Given the description of an element on the screen output the (x, y) to click on. 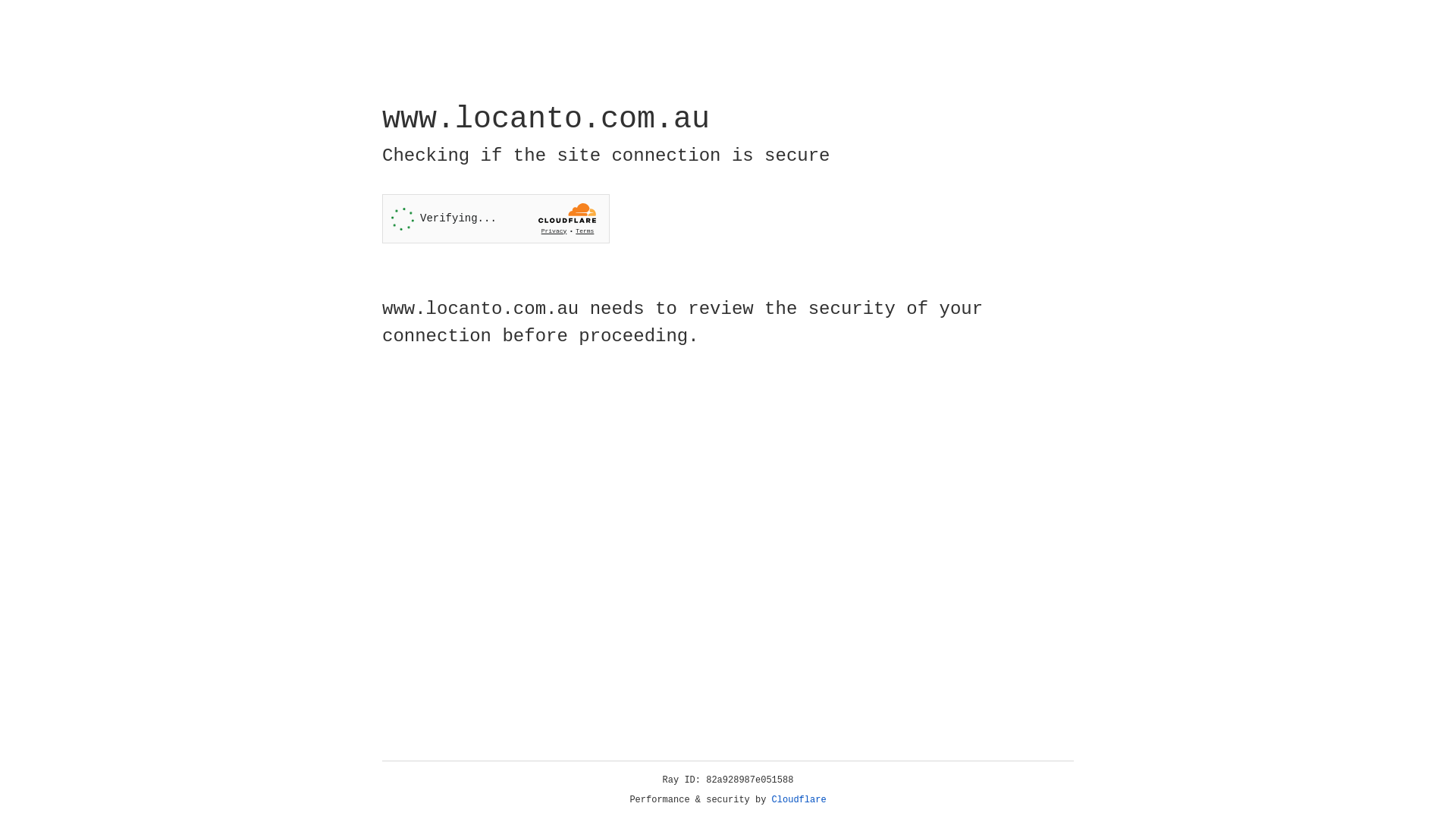
Widget containing a Cloudflare security challenge Element type: hover (495, 218)
Cloudflare Element type: text (798, 799)
